Given the description of an element on the screen output the (x, y) to click on. 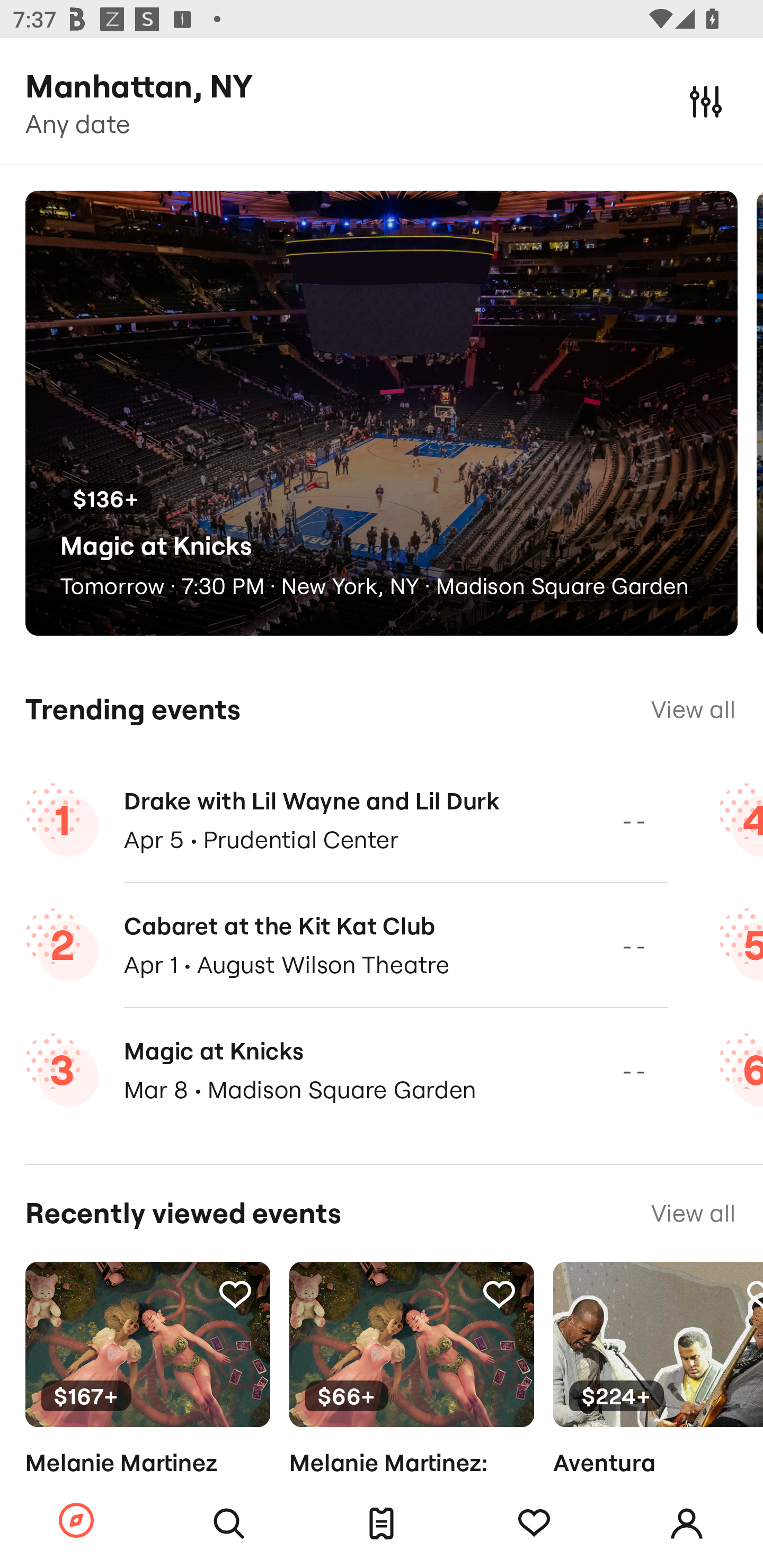
Close (705, 100)
View all (693, 709)
View all (693, 1213)
Tracking $167+ Melanie Martinez Tue, May 28, 7 PM (147, 1399)
Tracking $224+ Aventura Thu, May 30, 8 PM (658, 1399)
Tracking (234, 1293)
Tracking (498, 1293)
Browse (76, 1521)
Search (228, 1523)
Tickets (381, 1523)
Tracking (533, 1523)
Account (686, 1523)
